Given the description of an element on the screen output the (x, y) to click on. 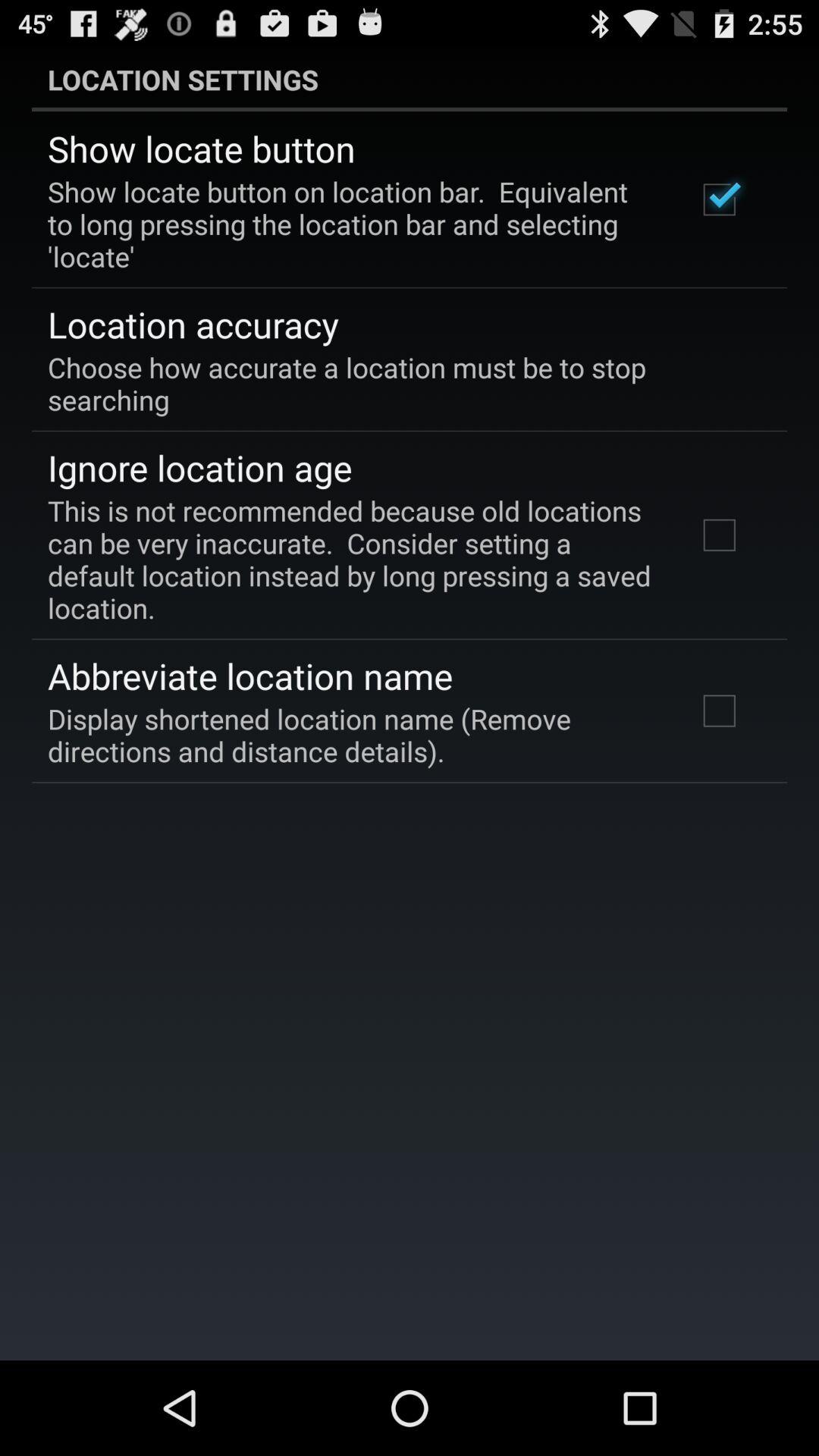
open the display shortened location icon (351, 735)
